Given the description of an element on the screen output the (x, y) to click on. 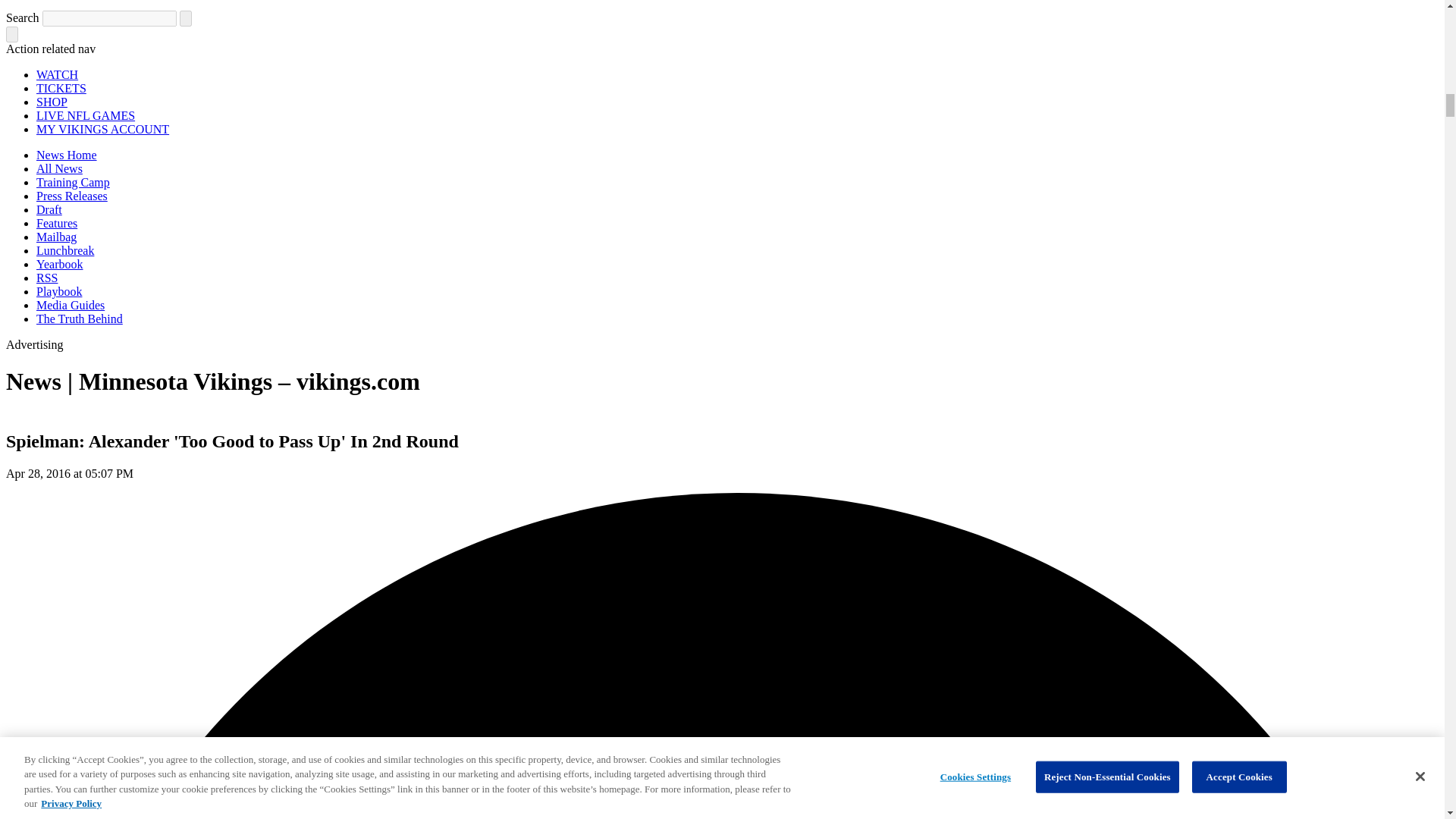
RSS (47, 277)
All News (59, 168)
Lunchbreak (65, 250)
Training Camp (73, 182)
MY VIKINGS ACCOUNT (102, 128)
Features (56, 223)
TICKETS (60, 88)
LIVE NFL GAMES (85, 115)
Draft (49, 209)
SHOP (51, 101)
Press Releases (71, 195)
Mailbag (56, 236)
News Home (66, 154)
WATCH (57, 74)
Yearbook (59, 264)
